Given the description of an element on the screen output the (x, y) to click on. 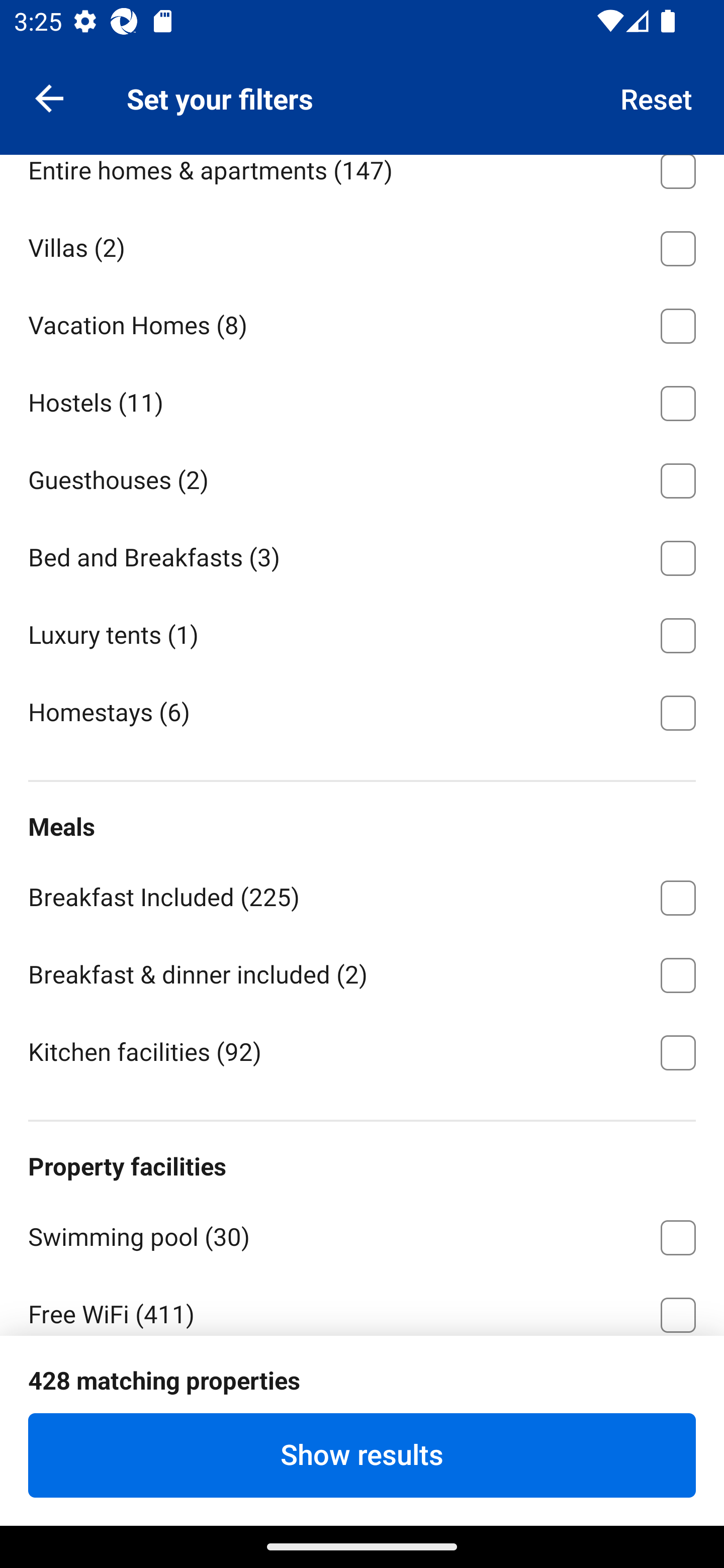
Navigate up (49, 97)
Apartments ⁦(1496) (361, 89)
Reset (656, 97)
Entire homes & apartments ⁦(147) (361, 180)
Villas ⁦(2) (361, 244)
Vacation Homes ⁦(8) (361, 321)
Hostels ⁦(11) (361, 399)
Guesthouses ⁦(2) (361, 477)
Bed and Breakfasts ⁦(3) (361, 554)
Luxury tents ⁦(1) (361, 632)
Homestays ⁦(6) (361, 711)
Breakfast Included ⁦(225) (361, 894)
Breakfast & dinner included ⁦(2) (361, 971)
Kitchen facilities ⁦(92) (361, 1051)
Swimming pool ⁦(30) (361, 1233)
Free WiFi ⁦(411) (361, 1304)
Free parking ⁦(4) (361, 1389)
Show results (361, 1454)
